Given the description of an element on the screen output the (x, y) to click on. 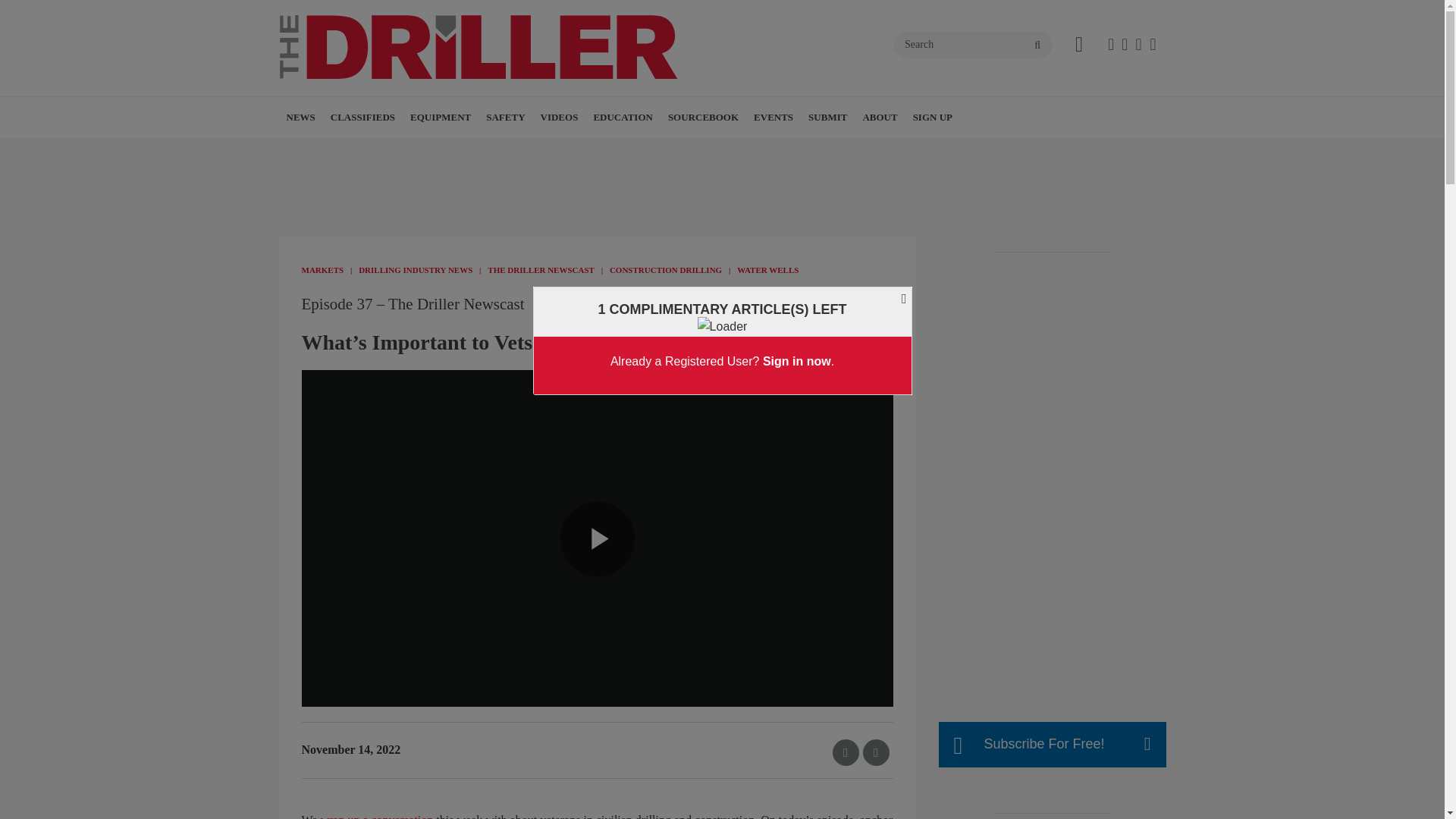
REFERENCE DESK (691, 150)
GROUNDBREAKING BUSINESS TOOLS (679, 159)
CONSUMABLES (504, 150)
CONSTRUCTION (386, 150)
CLASSIFIEDS (363, 117)
EDUCATION (623, 117)
FEATURED PRODUCTS (516, 150)
DRILL TALKS (634, 150)
SAFETY (505, 117)
EQUIPMENT (441, 117)
